Given the description of an element on the screen output the (x, y) to click on. 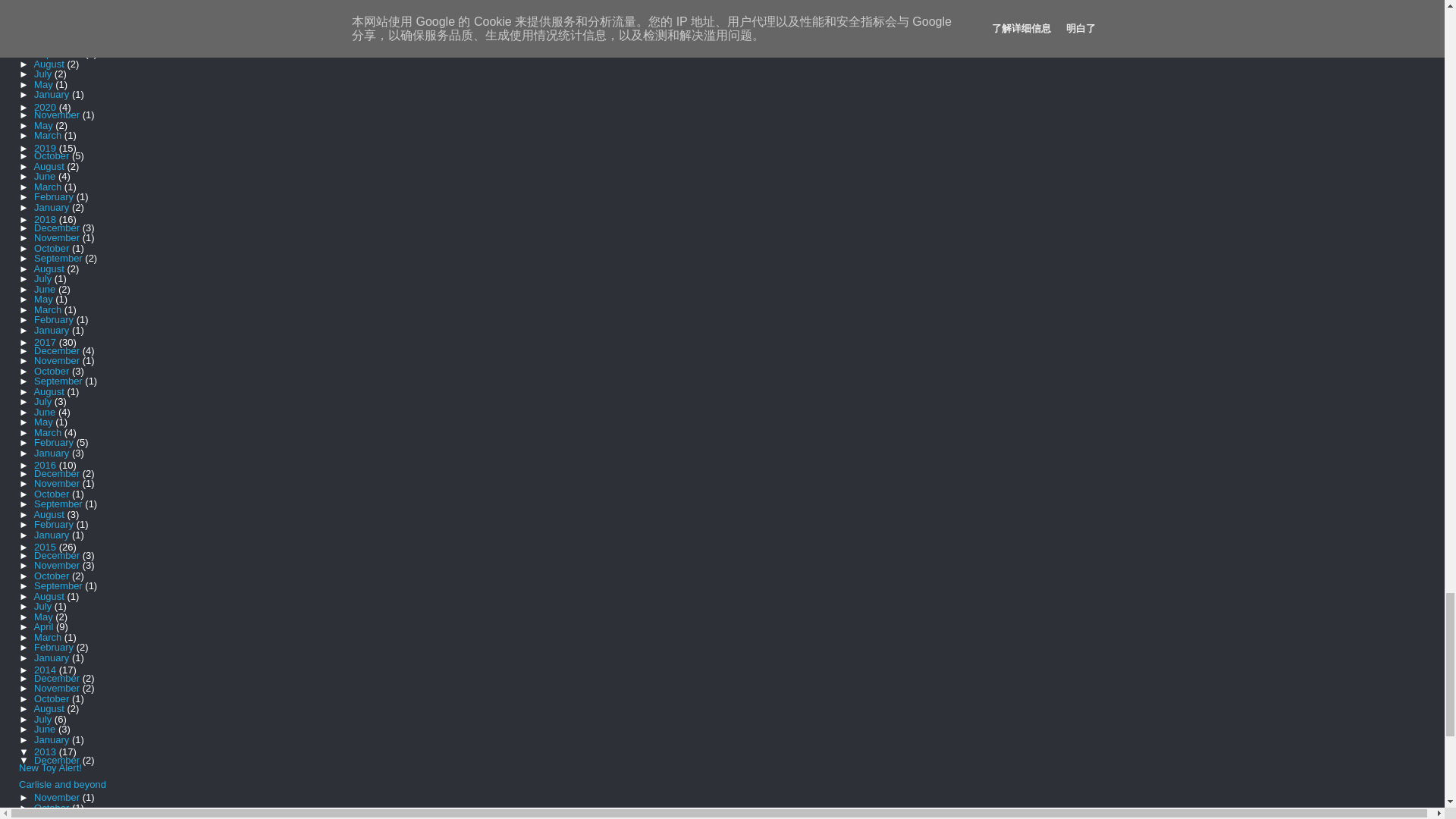
December (57, 43)
September (58, 22)
2022 (46, 14)
September (58, 4)
2021 (46, 34)
